Given the description of an element on the screen output the (x, y) to click on. 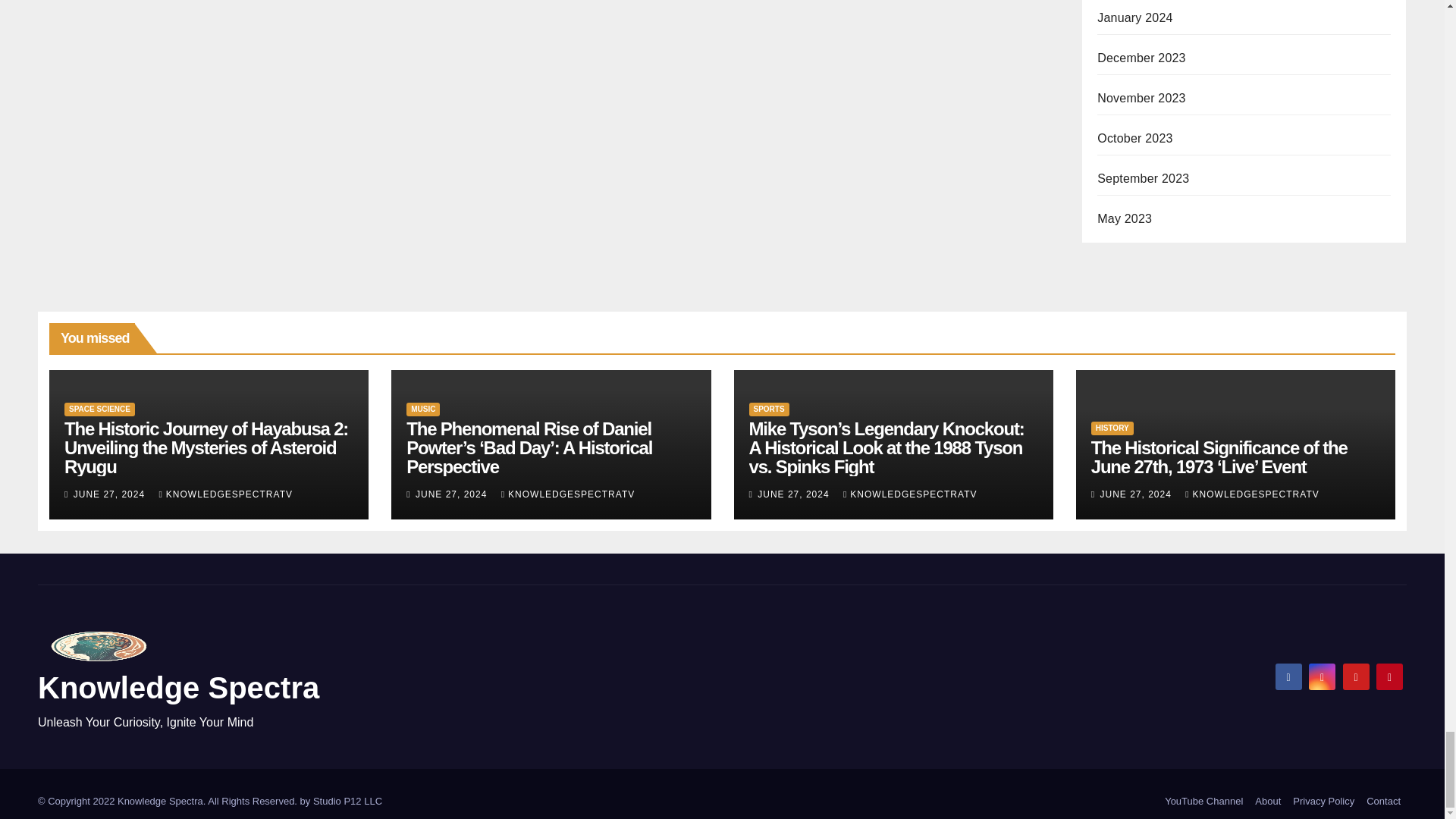
YouTube Channel (1203, 800)
